Given the description of an element on the screen output the (x, y) to click on. 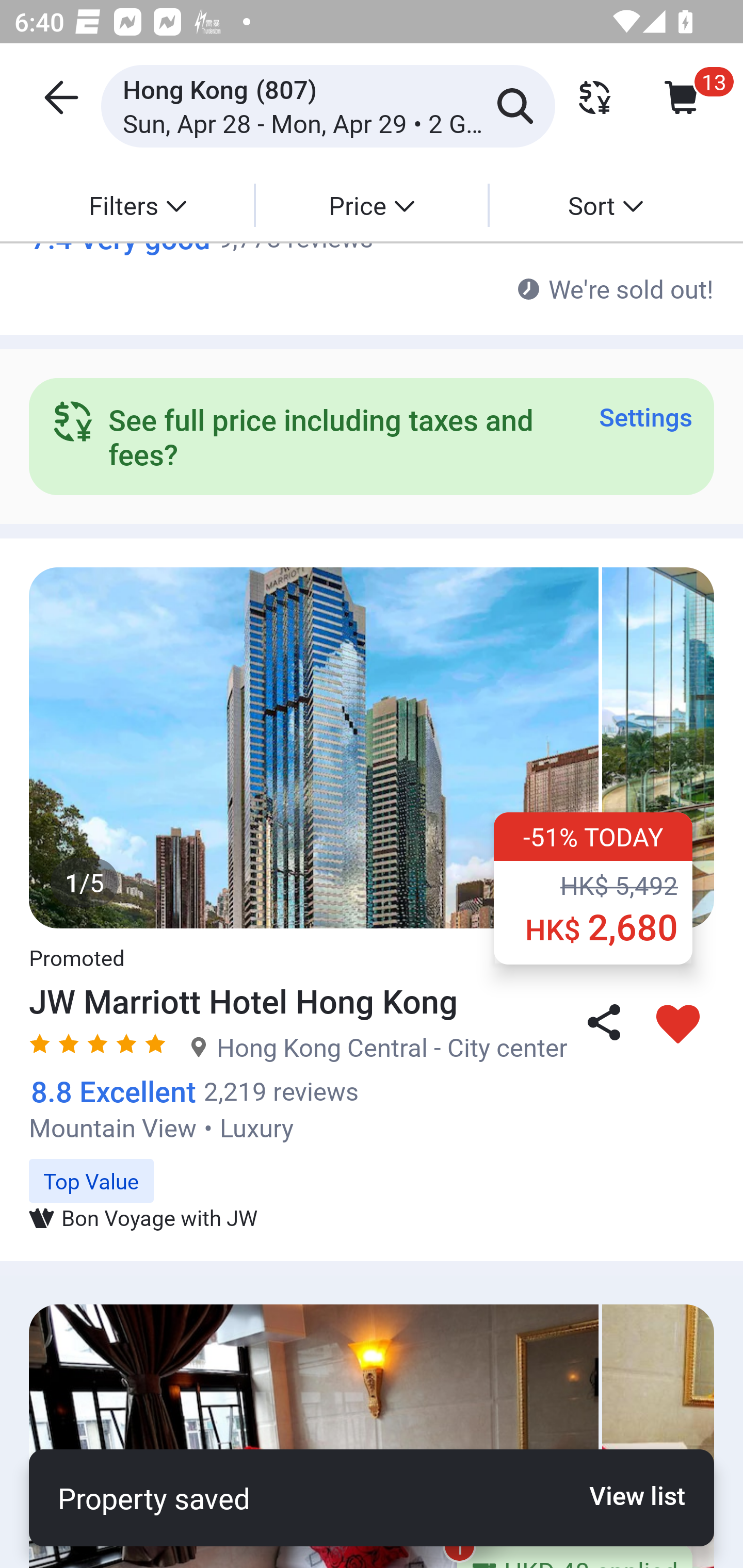
Filters (137, 205)
Price (371, 205)
Sort (605, 205)
Settings (645, 416)
1/5 (371, 747)
-51% TODAY ‪HK$ 5,492 ‪HK$ 2,680 (593, 888)
Promoted (76, 946)
Top Value (371, 1170)
View list (626, 1494)
